Given the description of an element on the screen output the (x, y) to click on. 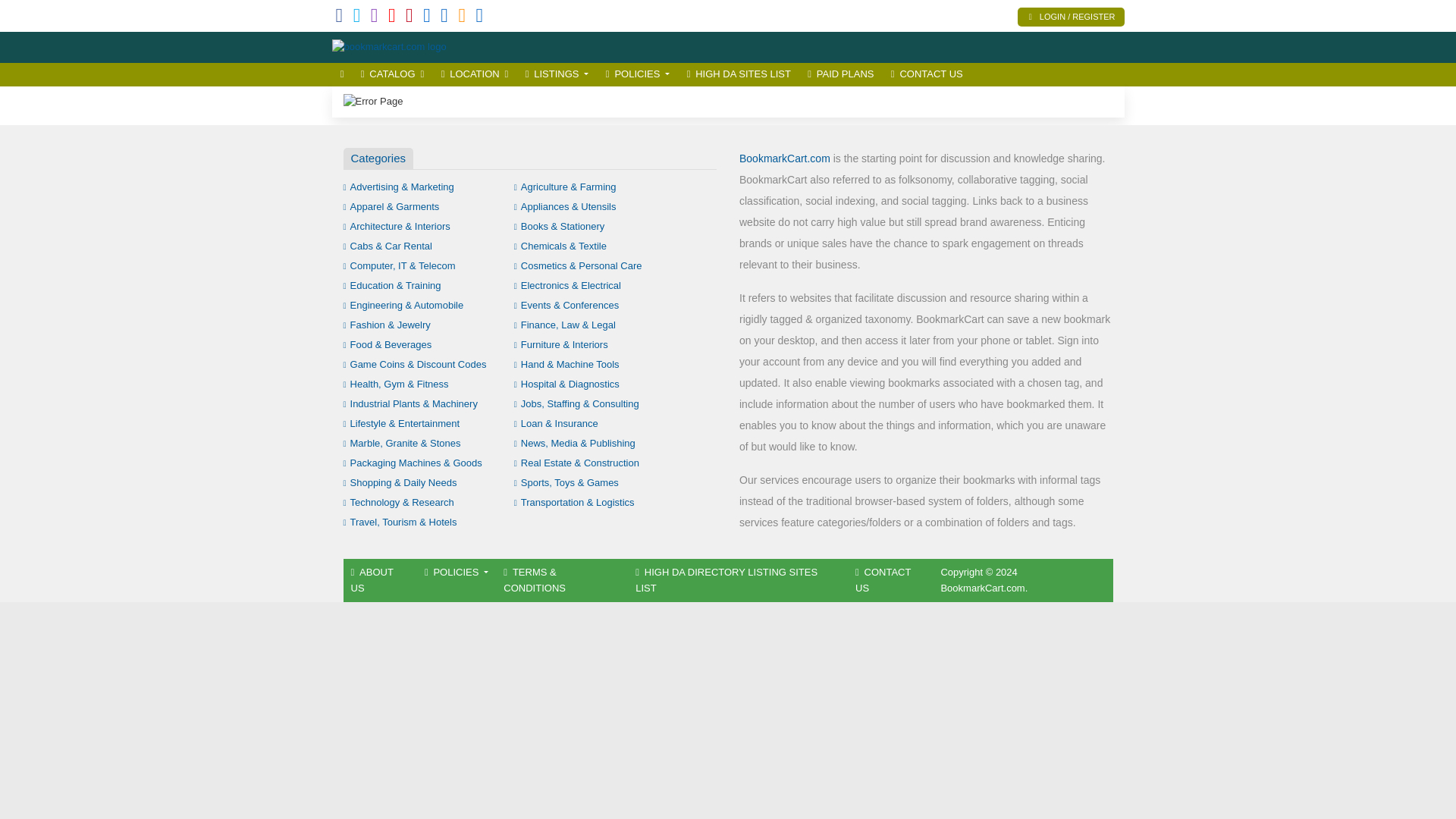
Facebook (338, 18)
YouTube (392, 18)
Medium (444, 18)
RSS Feed (461, 18)
HOME (341, 74)
Social Media Service to Submit Top News, Videos and Images (388, 46)
Pinterest (409, 18)
CATALOG (392, 74)
Tumblr (426, 18)
Linked In (479, 18)
Instagram (374, 18)
Twitter (357, 18)
